Given the description of an element on the screen output the (x, y) to click on. 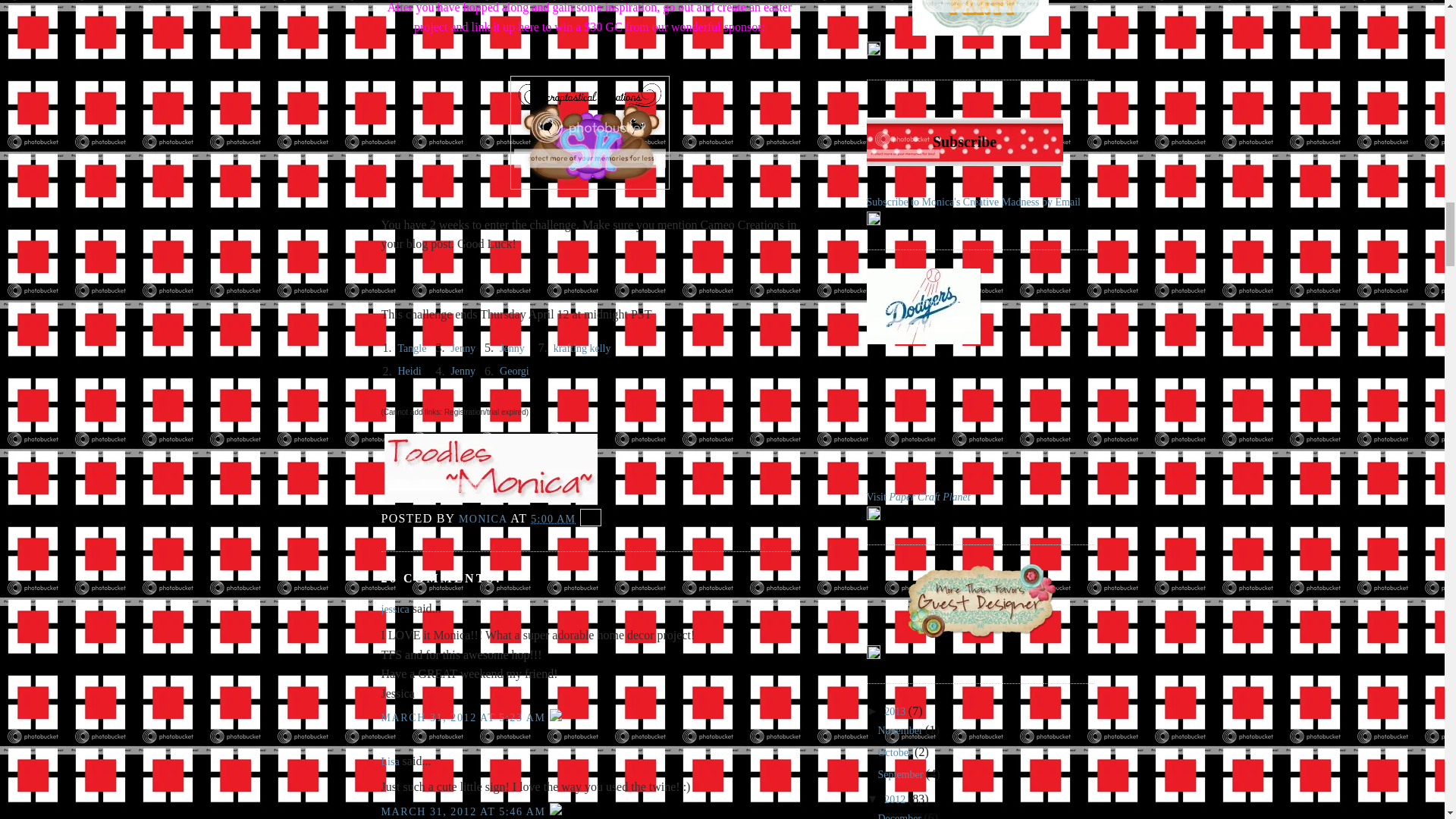
permanent link (553, 518)
Jenny (462, 370)
Georgi (514, 370)
Heidi (408, 370)
Tangle (411, 348)
author profile (484, 518)
Email Post (590, 518)
Delete Comment (556, 717)
Jenny (462, 348)
Jenny (511, 348)
5:00 AM (553, 518)
comment permalink (464, 717)
krafting kelly (582, 348)
MONICA (484, 518)
